Given the description of an element on the screen output the (x, y) to click on. 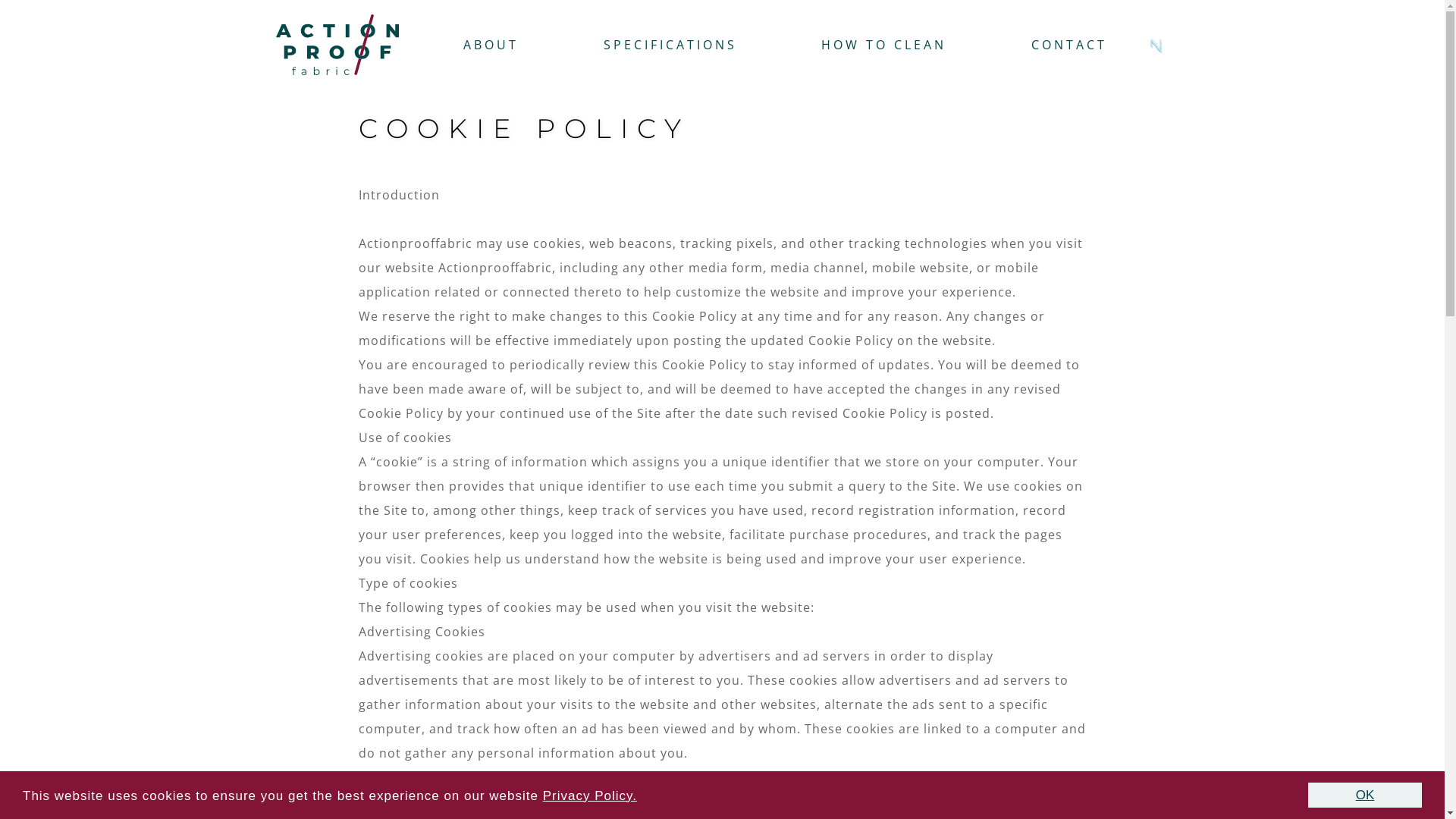
Privacy Policy. Element type: text (589, 795)
ABOUT Element type: text (490, 44)
HOW TO CLEAN Element type: text (883, 44)
Skip to main content Element type: text (721, 0)
OK Element type: text (1364, 794)
CONTACT Element type: text (1069, 44)
Home Element type: hover (337, 42)
SPECIFICATIONS Element type: text (670, 44)
